Given the description of an element on the screen output the (x, y) to click on. 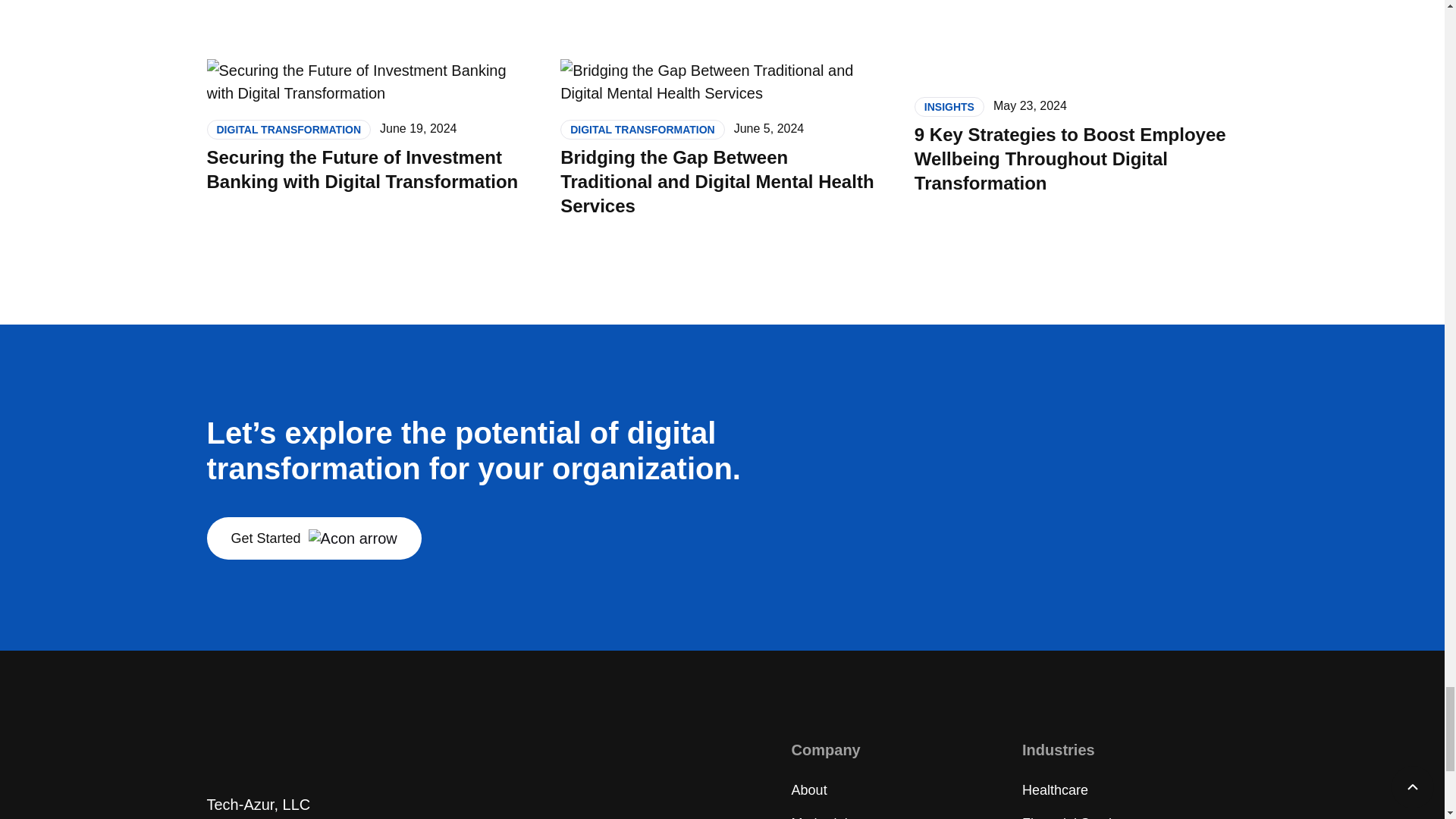
Financial Services (1077, 817)
Healthcare (1054, 789)
Methodology (830, 817)
About (809, 789)
Get Started (313, 537)
